Given the description of an element on the screen output the (x, y) to click on. 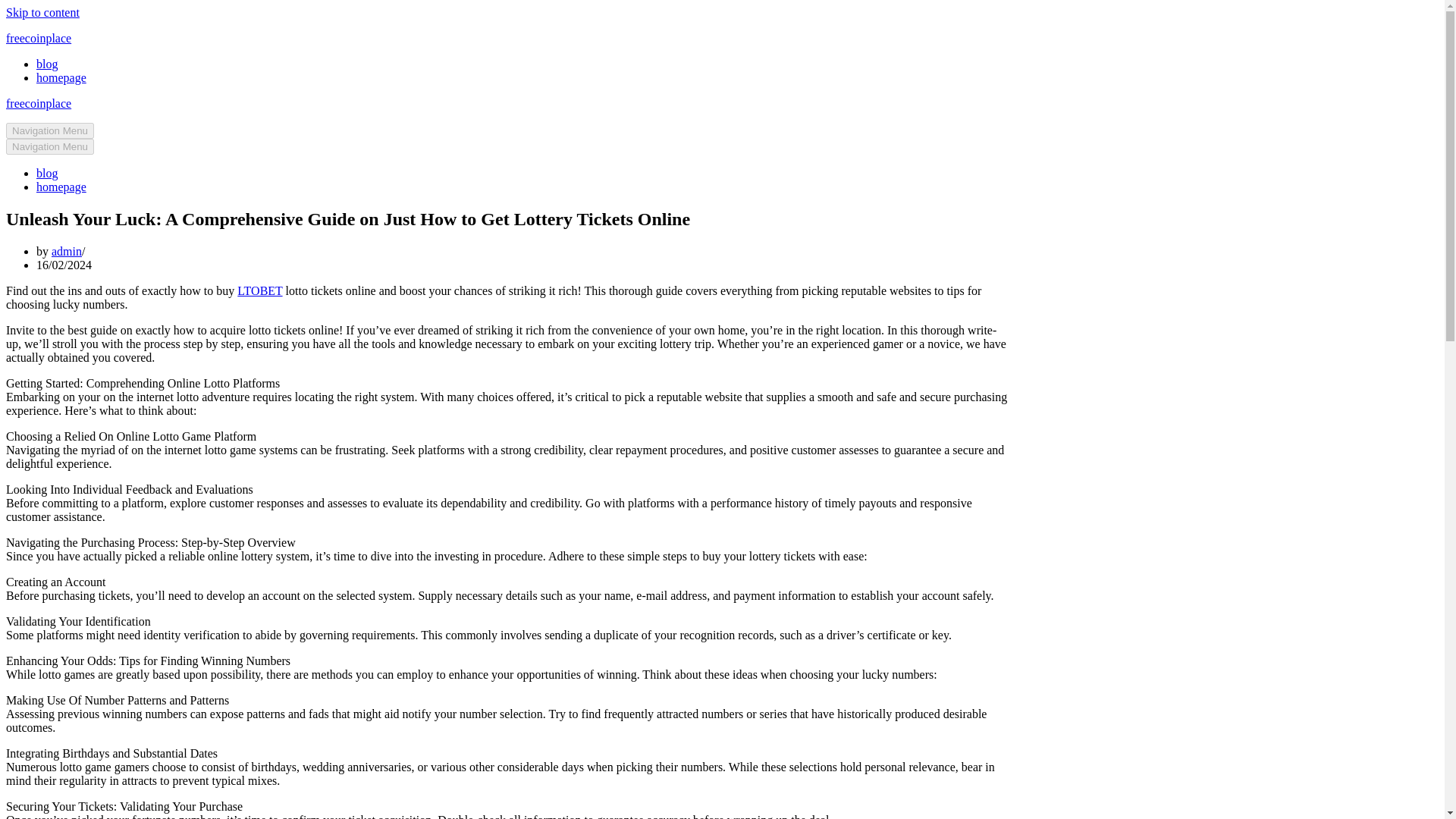
Posts by admin (65, 250)
Skip to content (42, 11)
blog (47, 173)
Navigation Menu (49, 130)
blog (47, 63)
admin (65, 250)
homepage (60, 186)
homepage (60, 77)
LTOBET (259, 290)
Navigation Menu (49, 146)
